Given the description of an element on the screen output the (x, y) to click on. 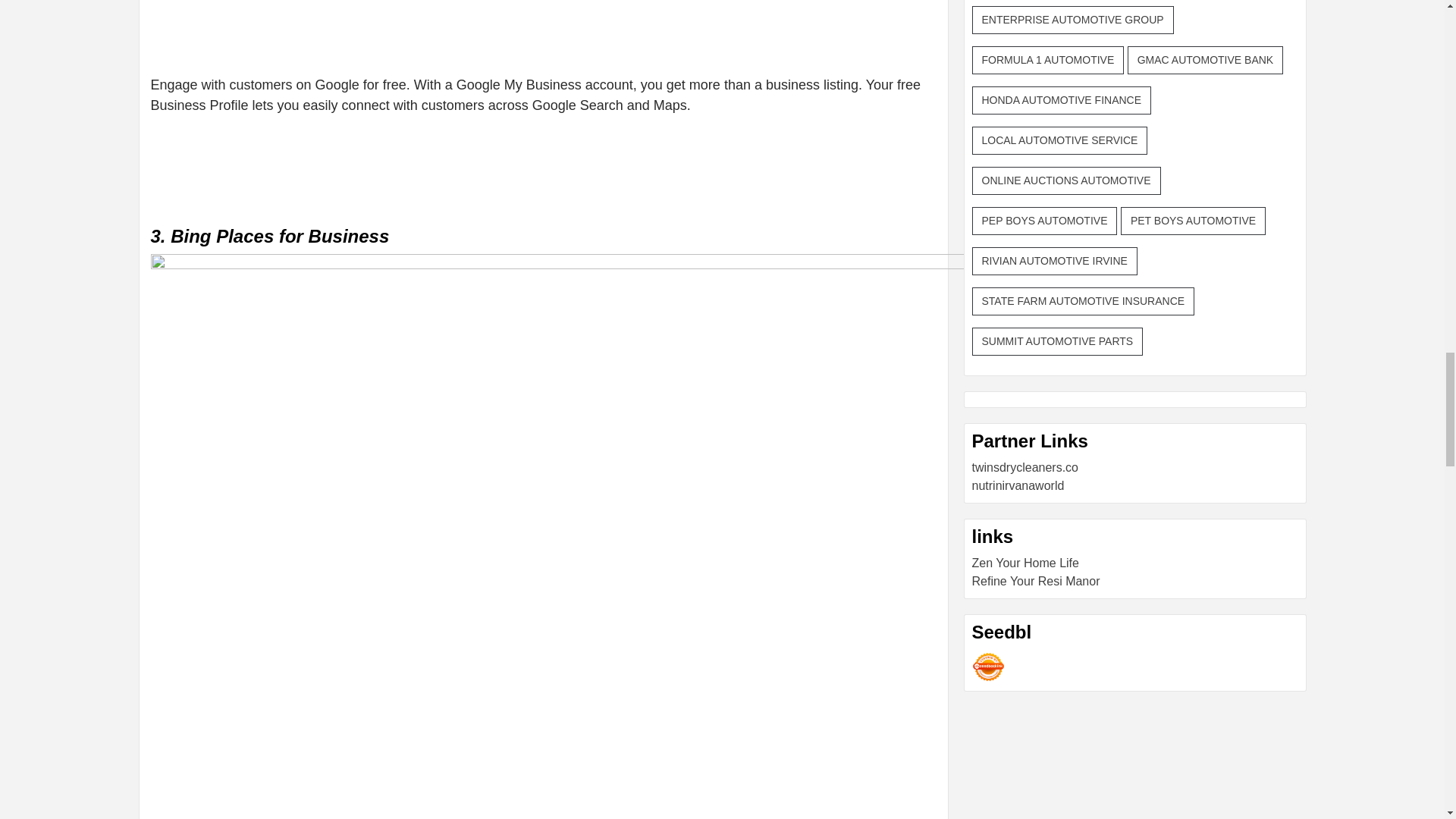
Seedbacklink (988, 666)
